Given the description of an element on the screen output the (x, y) to click on. 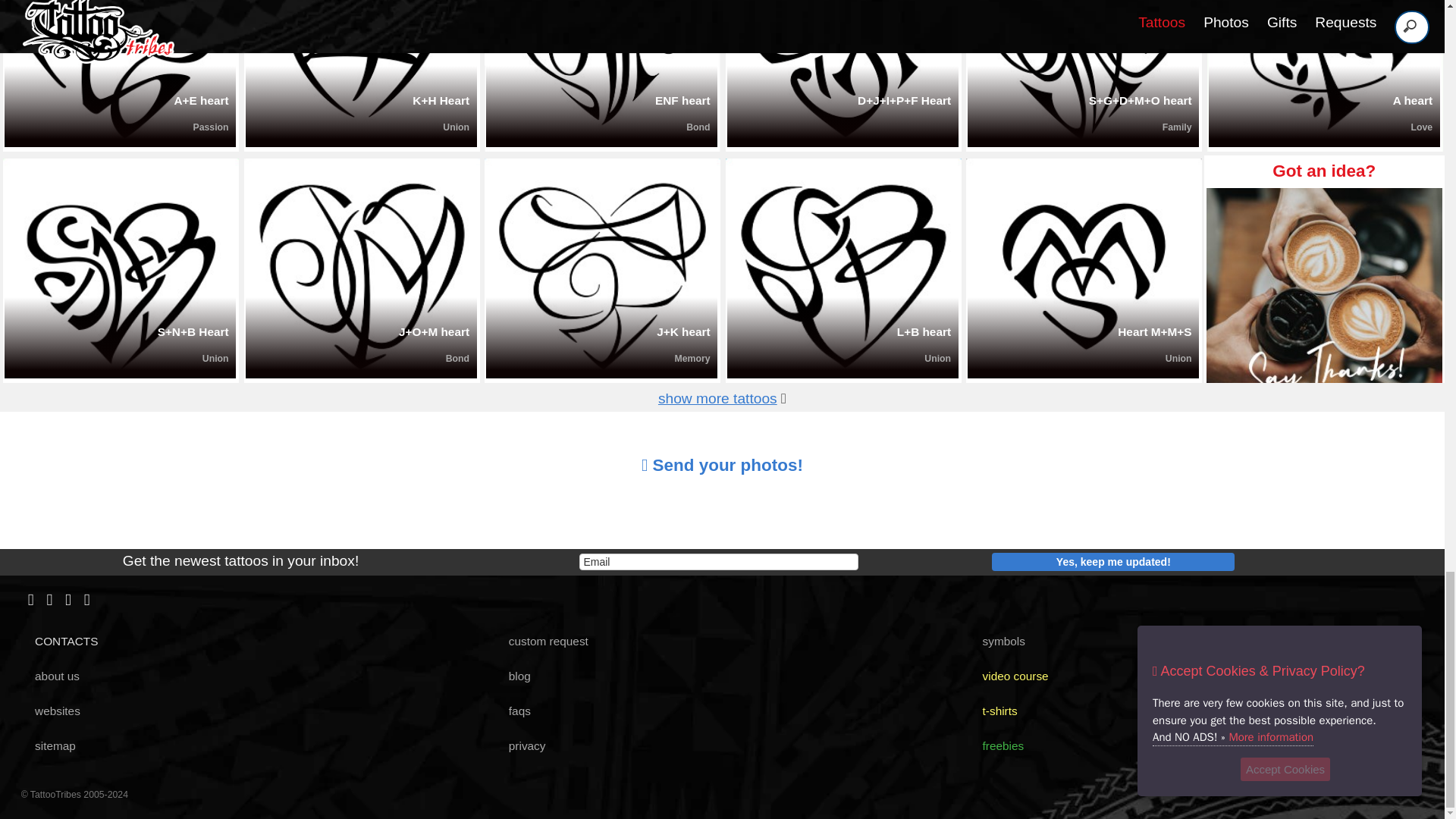
Our websites (51, 710)
Polynesian tattoo symbols wiki (998, 640)
TattooTribes blog (512, 675)
Frequently Asked Questions (512, 710)
Custom tattoo requests (542, 640)
About us (51, 675)
Artists contacts (61, 640)
sitemap (49, 745)
Privacy policy (520, 745)
Polynesian Tattoos 101 video course (1009, 675)
